Given the description of an element on the screen output the (x, y) to click on. 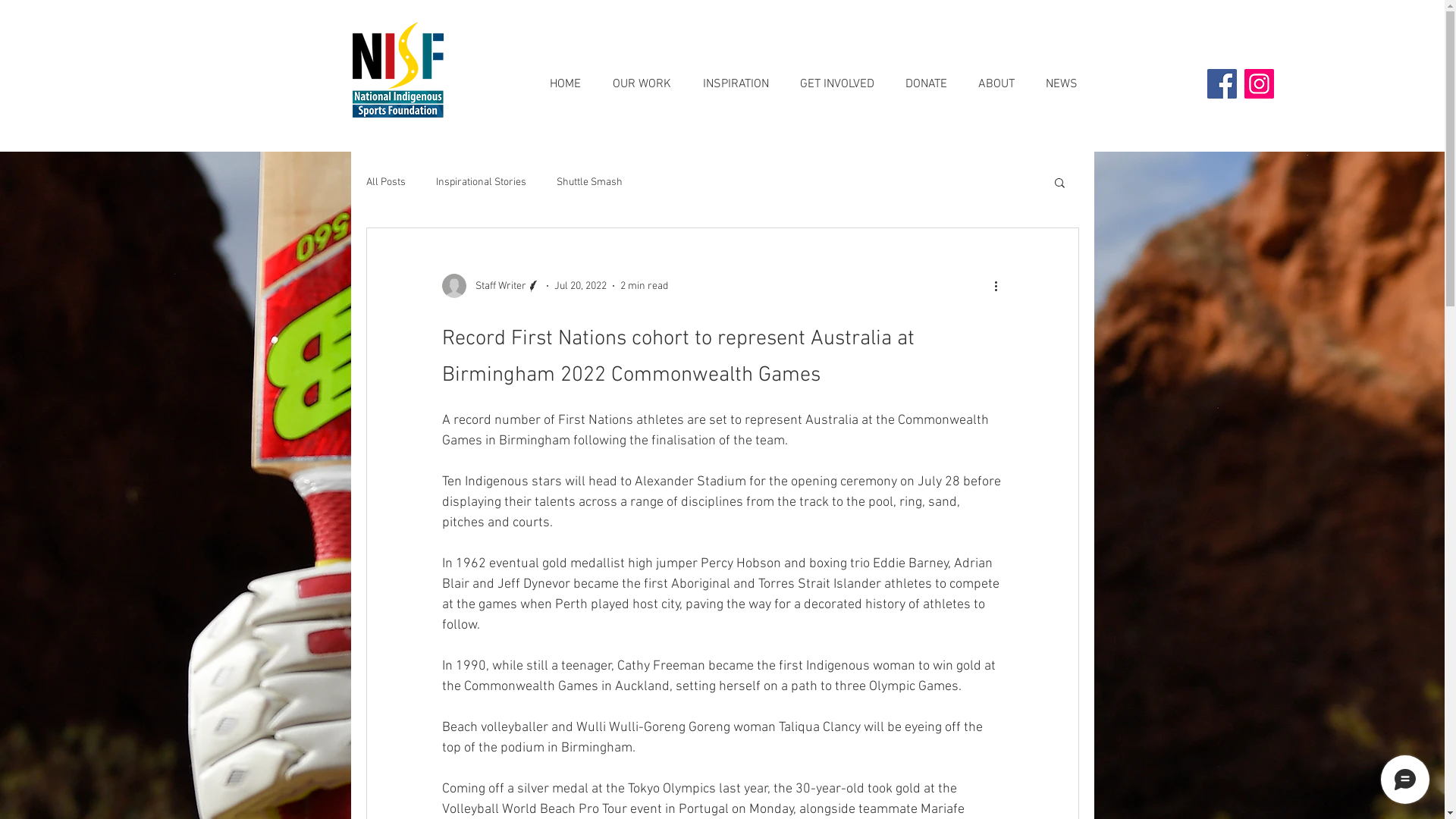
NEWS Element type: text (1060, 77)
Shuttle Smash Element type: text (589, 181)
Inspirational Stories Element type: text (480, 181)
HOME Element type: text (564, 77)
OUR WORK Element type: text (641, 77)
DONATE Element type: text (926, 77)
GET INVOLVED Element type: text (836, 77)
All Posts Element type: text (384, 181)
INSPIRATION Element type: text (735, 77)
Staff Writer Element type: text (490, 285)
ABOUT Element type: text (996, 77)
